Given the description of an element on the screen output the (x, y) to click on. 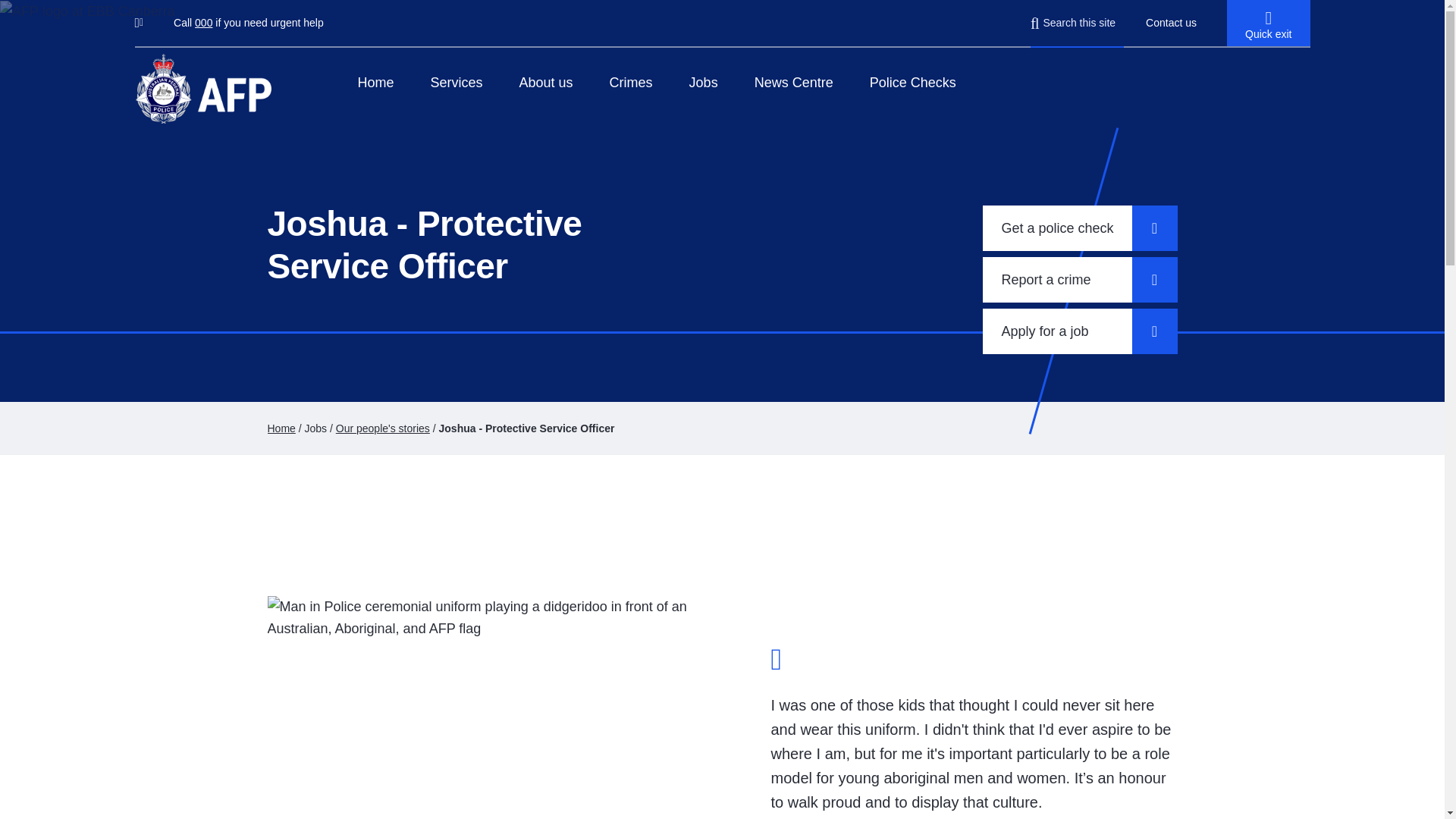
Police Checks (912, 82)
Contact us (1170, 22)
Police checks page (912, 82)
Services (456, 82)
Crimes (631, 82)
About us (546, 82)
Home (376, 82)
Home (280, 428)
About page (546, 82)
